Given the description of an element on the screen output the (x, y) to click on. 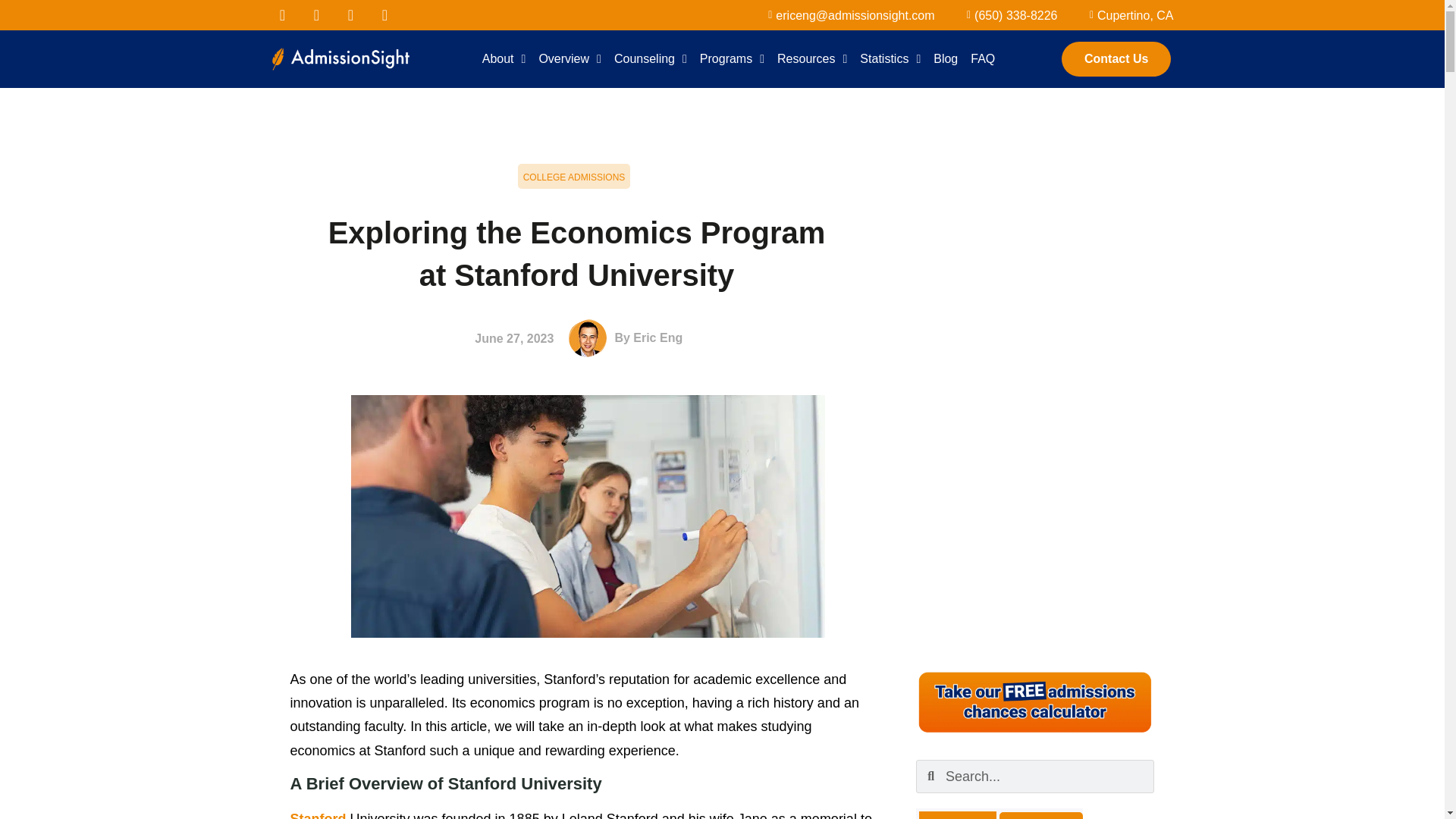
Stanford (317, 815)
Twitter (316, 15)
Facebook (281, 15)
Linkedin (349, 15)
About (504, 59)
Instagram (384, 15)
Counseling (650, 59)
Programs (731, 59)
Overview (569, 59)
